Given the description of an element on the screen output the (x, y) to click on. 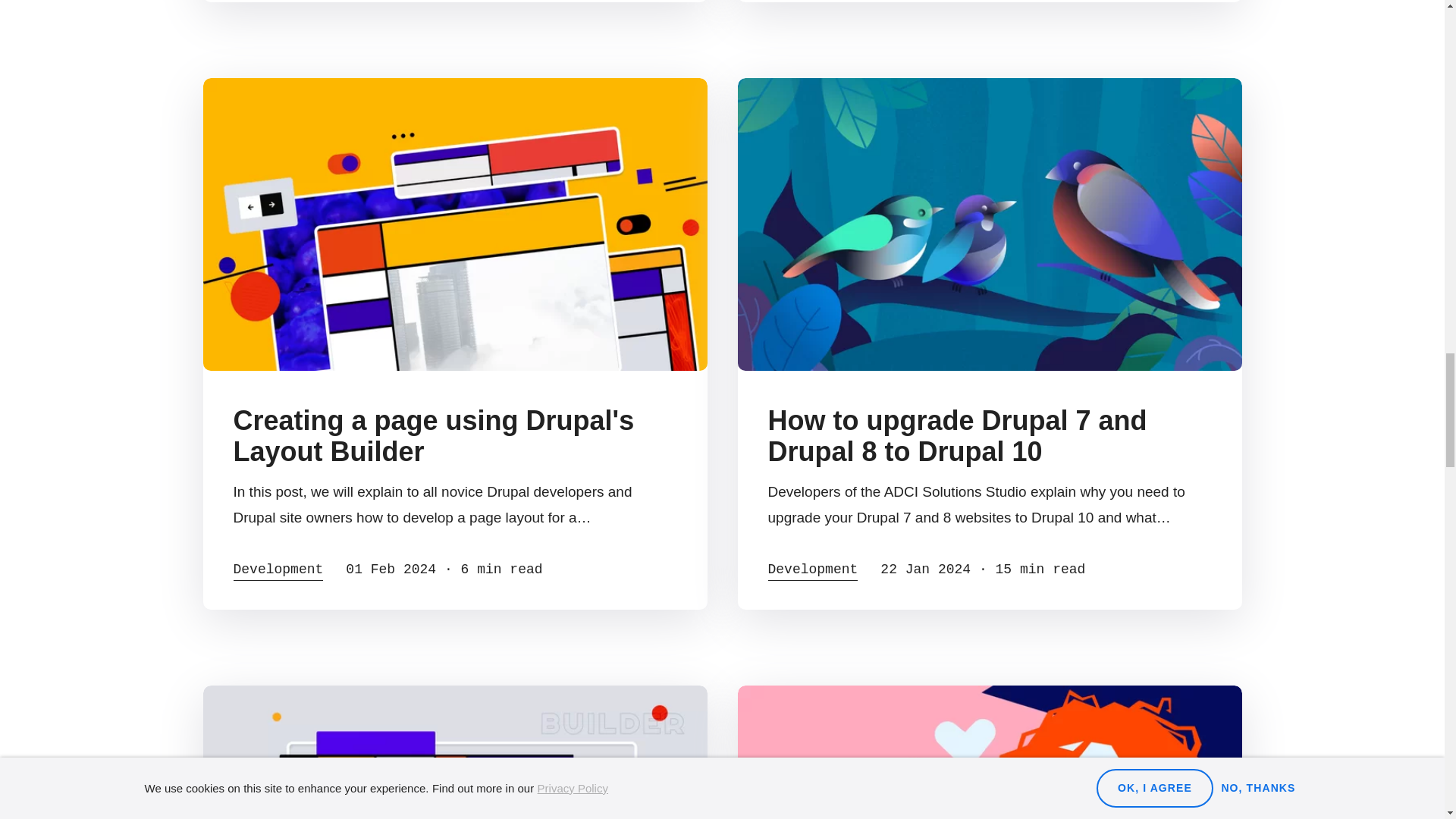
How to upgrade Drupal 7 and Drupal 8 to Drupal 10 (957, 435)
Creating a page using Drupal's Layout Builder (433, 435)
Development (277, 571)
